Given the description of an element on the screen output the (x, y) to click on. 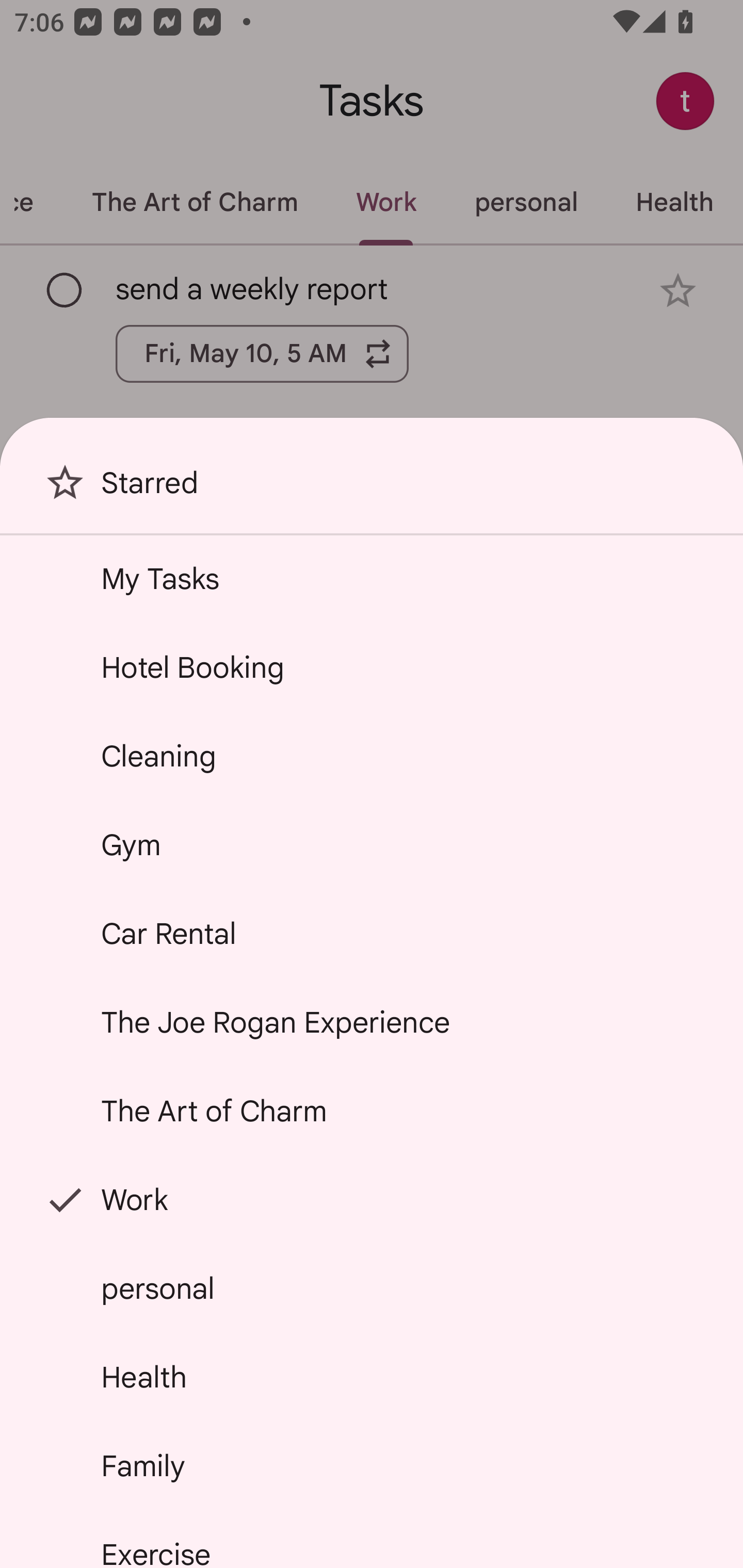
Starred (371, 489)
My Tasks (371, 578)
Hotel Booking (371, 667)
Cleaning (371, 756)
Gym (371, 844)
Car Rental (371, 933)
The Joe Rogan Experience (371, 1022)
The Art of Charm (371, 1110)
Work (371, 1200)
personal (371, 1287)
Health (371, 1377)
Family (371, 1465)
Exercise (371, 1539)
